Given the description of an element on the screen output the (x, y) to click on. 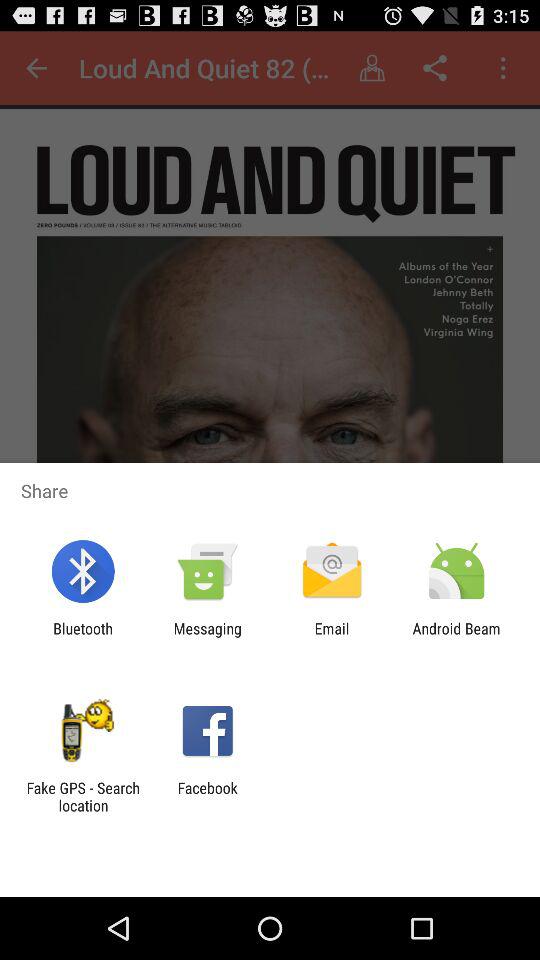
click app next to android beam icon (331, 637)
